Given the description of an element on the screen output the (x, y) to click on. 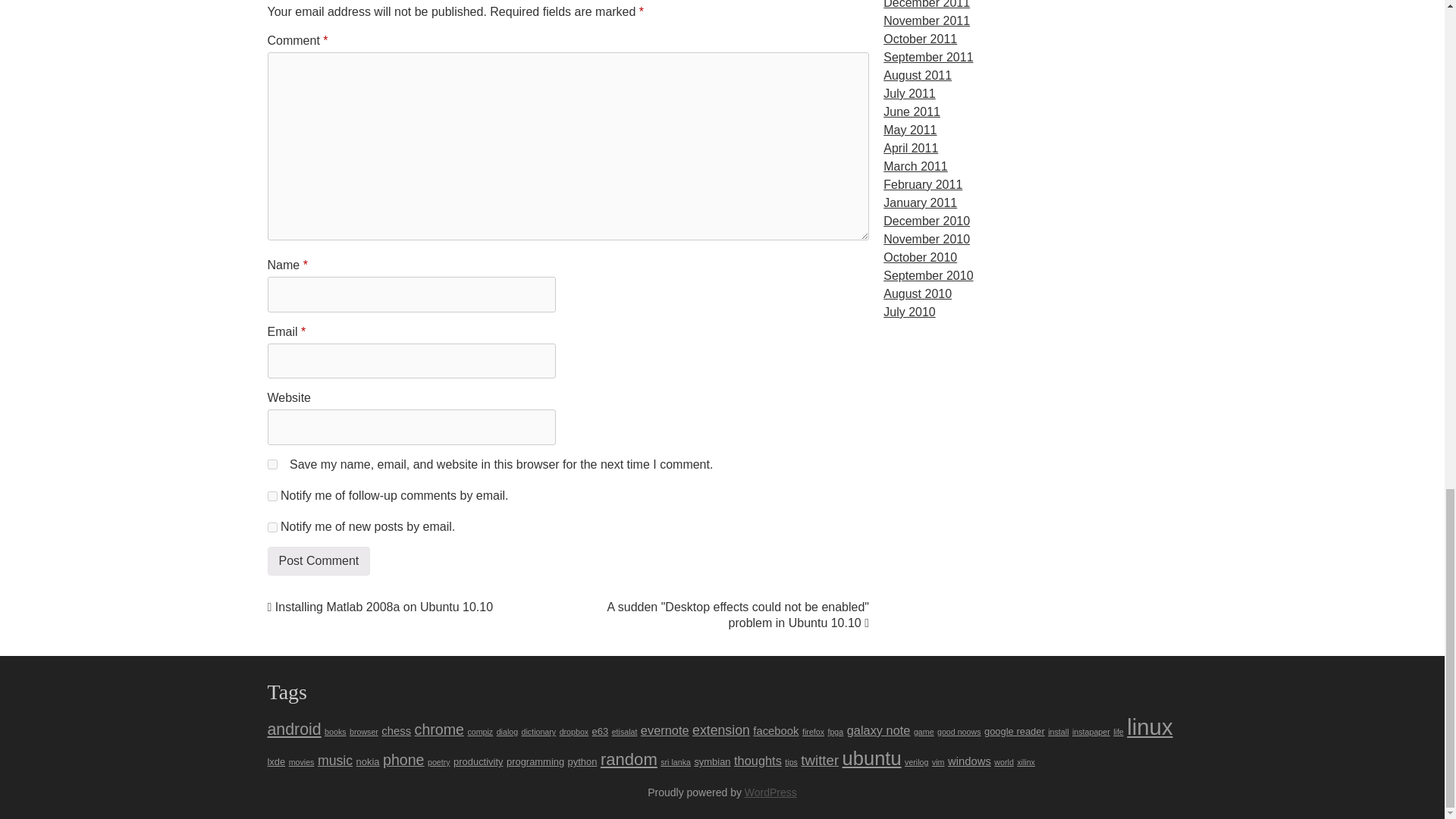
Semantic Personal Publishing Platform (770, 792)
subscribe (271, 527)
Post Comment (317, 561)
subscribe (271, 496)
yes (271, 464)
Installing Matlab 2008a on Ubuntu 10.10 (379, 606)
Post Comment (317, 561)
